Given the description of an element on the screen output the (x, y) to click on. 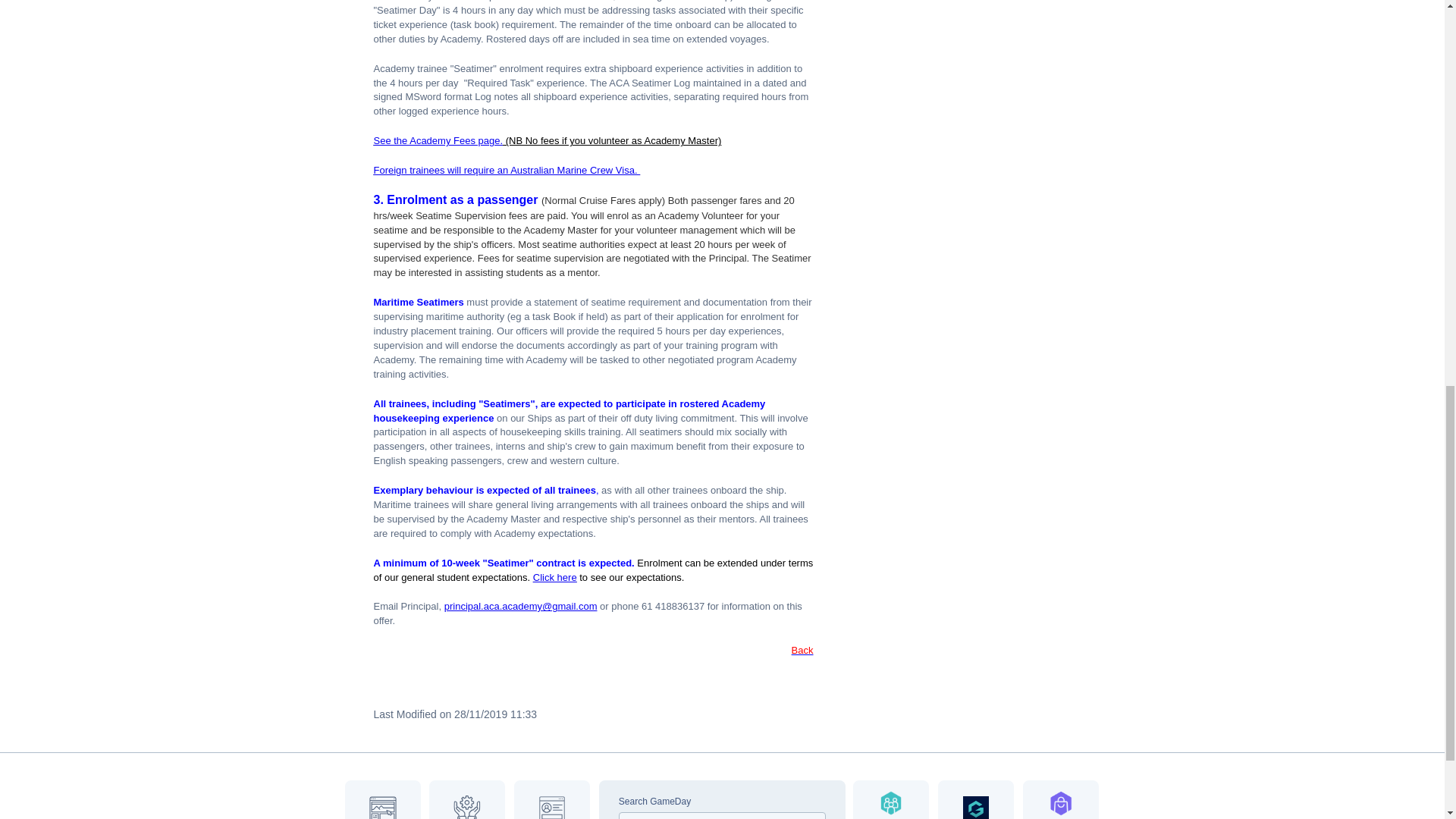
GameDay Marketplace (1061, 799)
GameDay App (975, 799)
See the Academy Fees page. (437, 140)
Support (467, 799)
Manager (551, 799)
Site Editor (381, 799)
GameDay Community (890, 799)
Click here (554, 577)
